Given the description of an element on the screen output the (x, y) to click on. 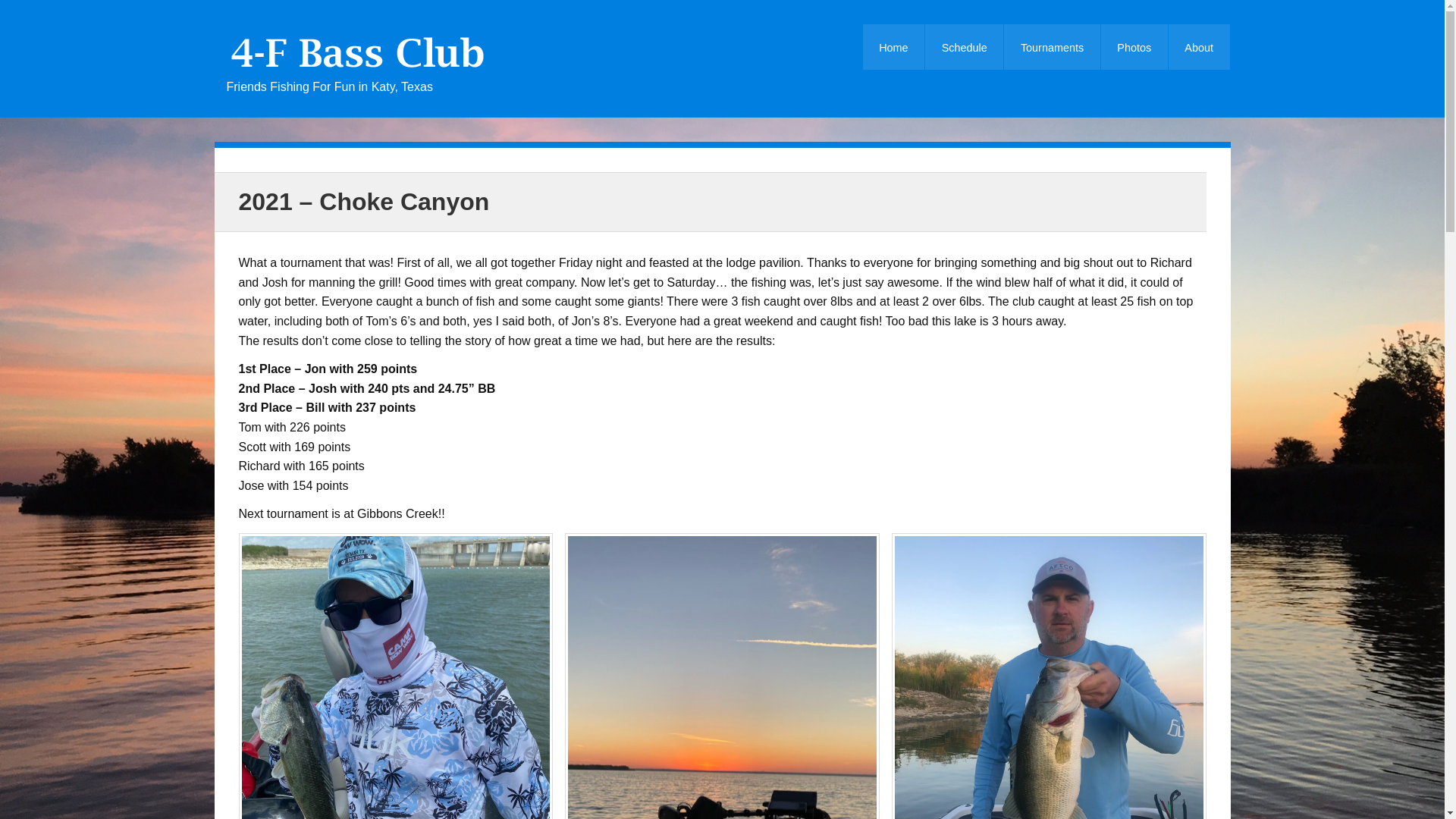
4-F Bass Club (362, 69)
Schedule (963, 46)
Tournaments (1051, 46)
Home (893, 46)
Photos (1133, 46)
